Given the description of an element on the screen output the (x, y) to click on. 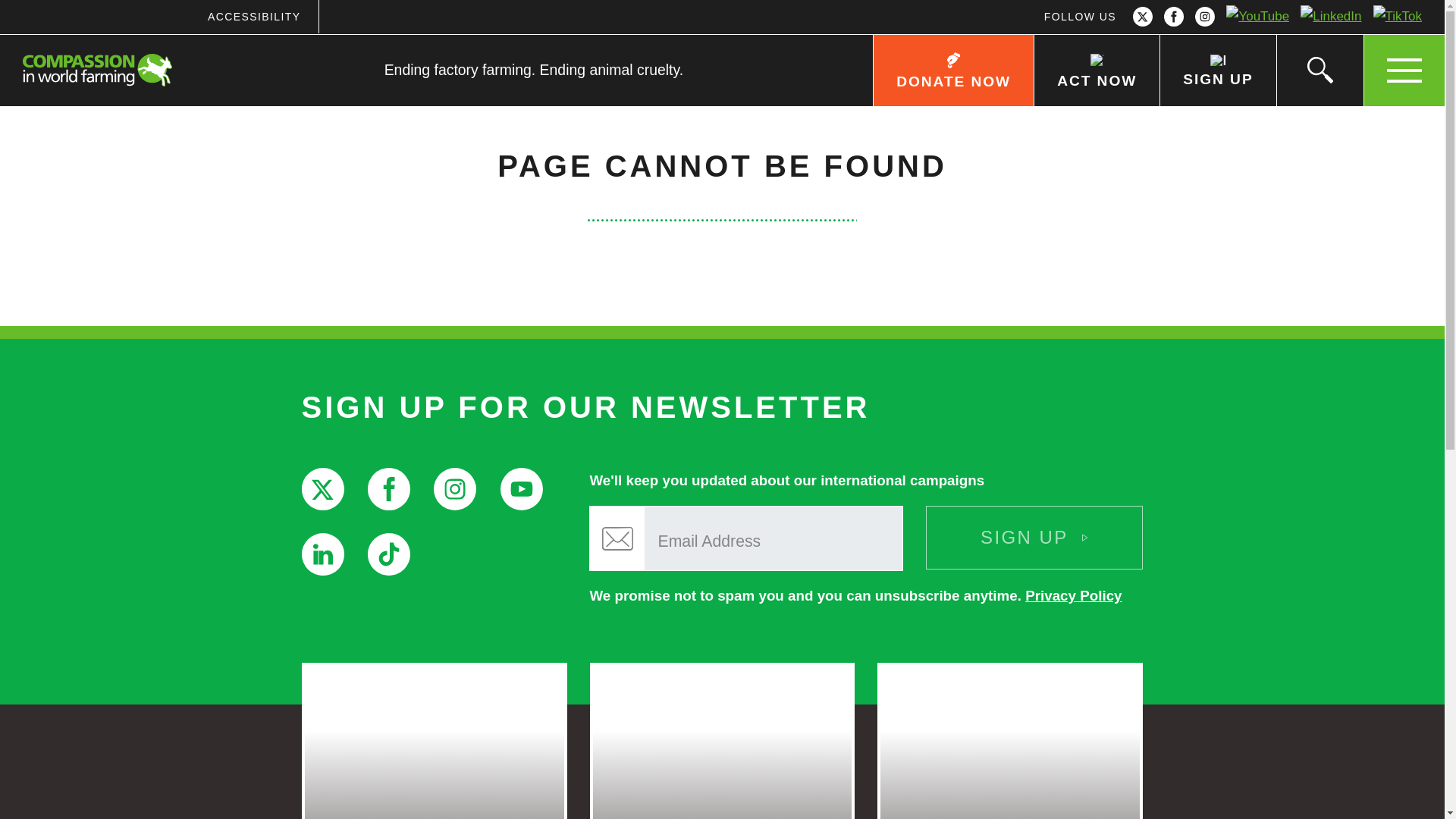
SIGN UP (1034, 537)
Facebook (1173, 16)
Twitter (322, 488)
YouTube (1258, 16)
ACT NOW (1095, 70)
TikTok (1397, 16)
LinkedIn (1331, 16)
Privacy Policy (1073, 595)
Twitter (1142, 16)
SIGN UP (1216, 70)
Skip to Content (773, 1)
ACCESSIBILITY (253, 16)
